Given the description of an element on the screen output the (x, y) to click on. 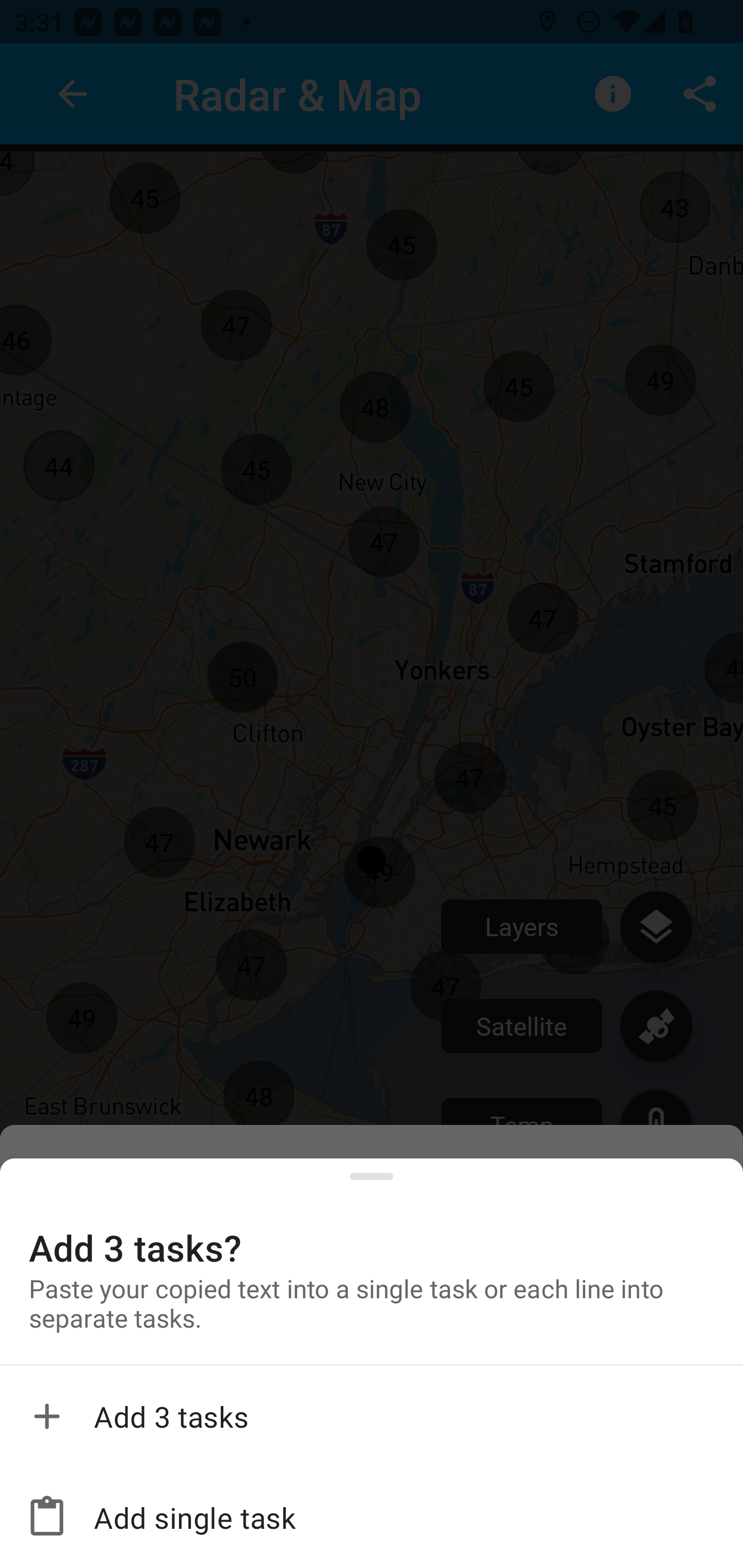
Add 3 tasks (371, 1416)
Add single task (371, 1517)
